Given the description of an element on the screen output the (x, y) to click on. 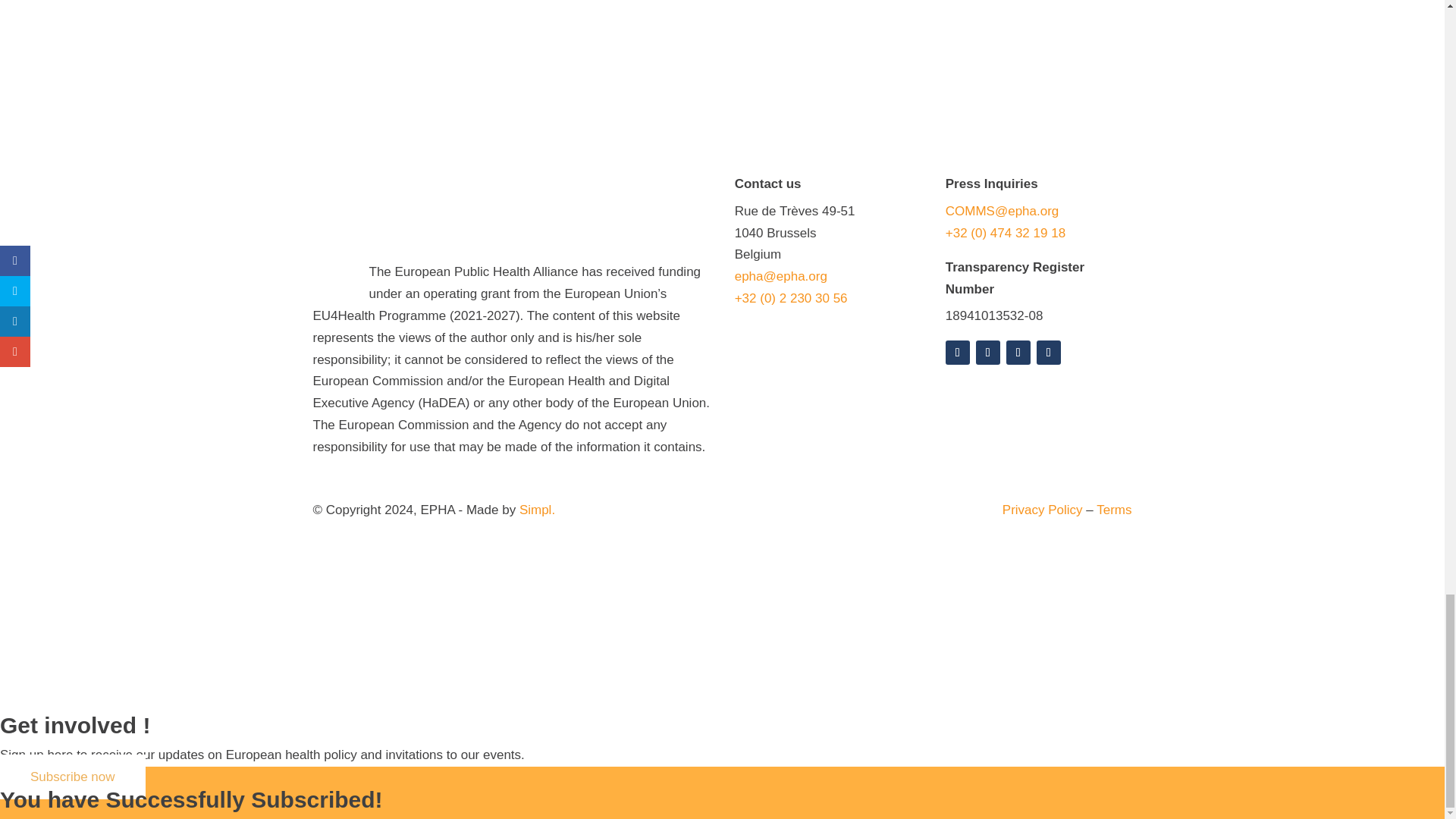
epha logo publications (417, 211)
Follow on Youtube (1048, 352)
Follow on LinkedIn (1018, 352)
Follow on X (987, 352)
Follow on Spotify (956, 352)
